Given the description of an element on the screen output the (x, y) to click on. 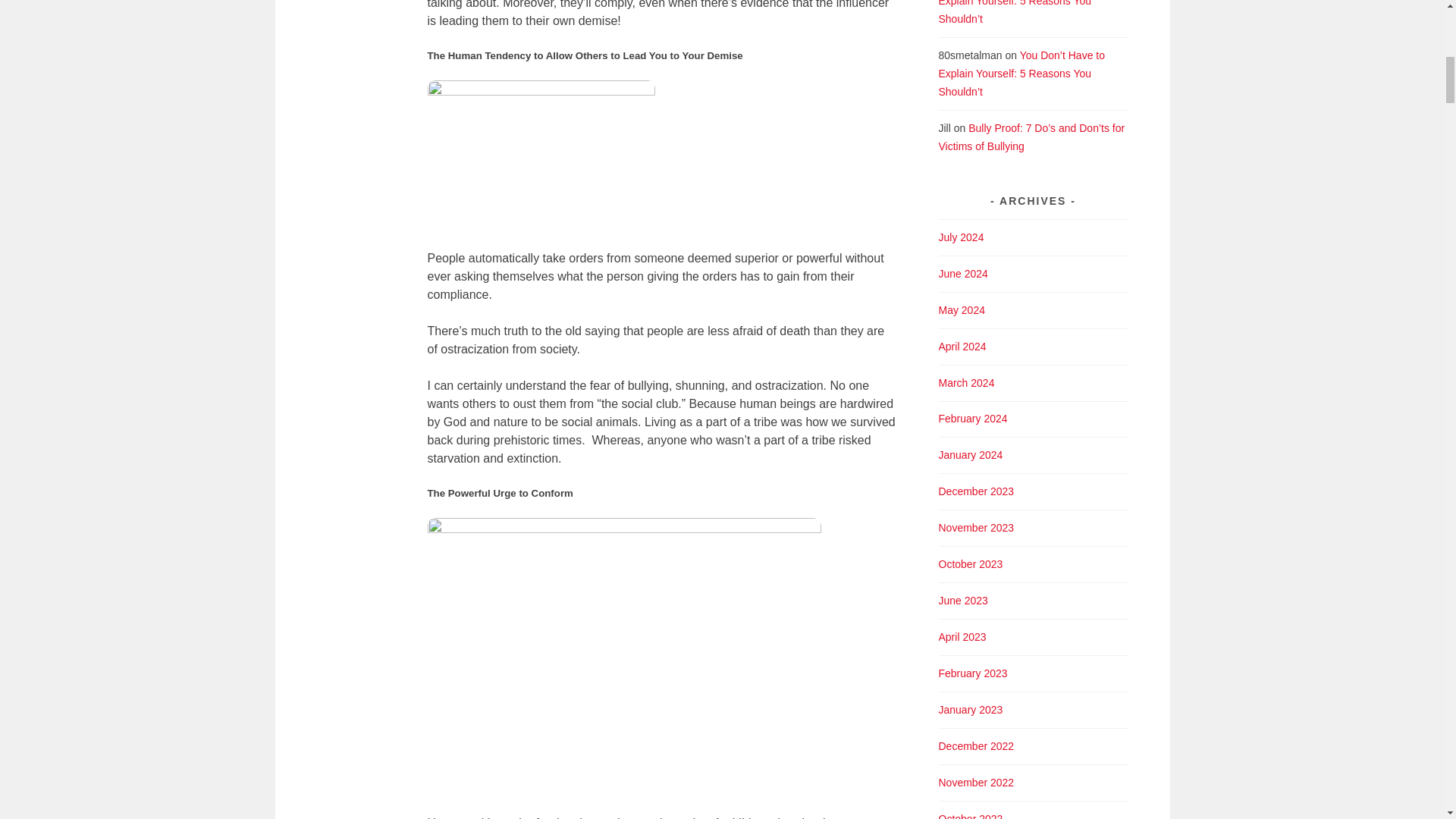
July 2024 (961, 236)
March 2024 (966, 382)
May 2024 (962, 309)
June 2024 (963, 273)
April 2024 (963, 346)
